Given the description of an element on the screen output the (x, y) to click on. 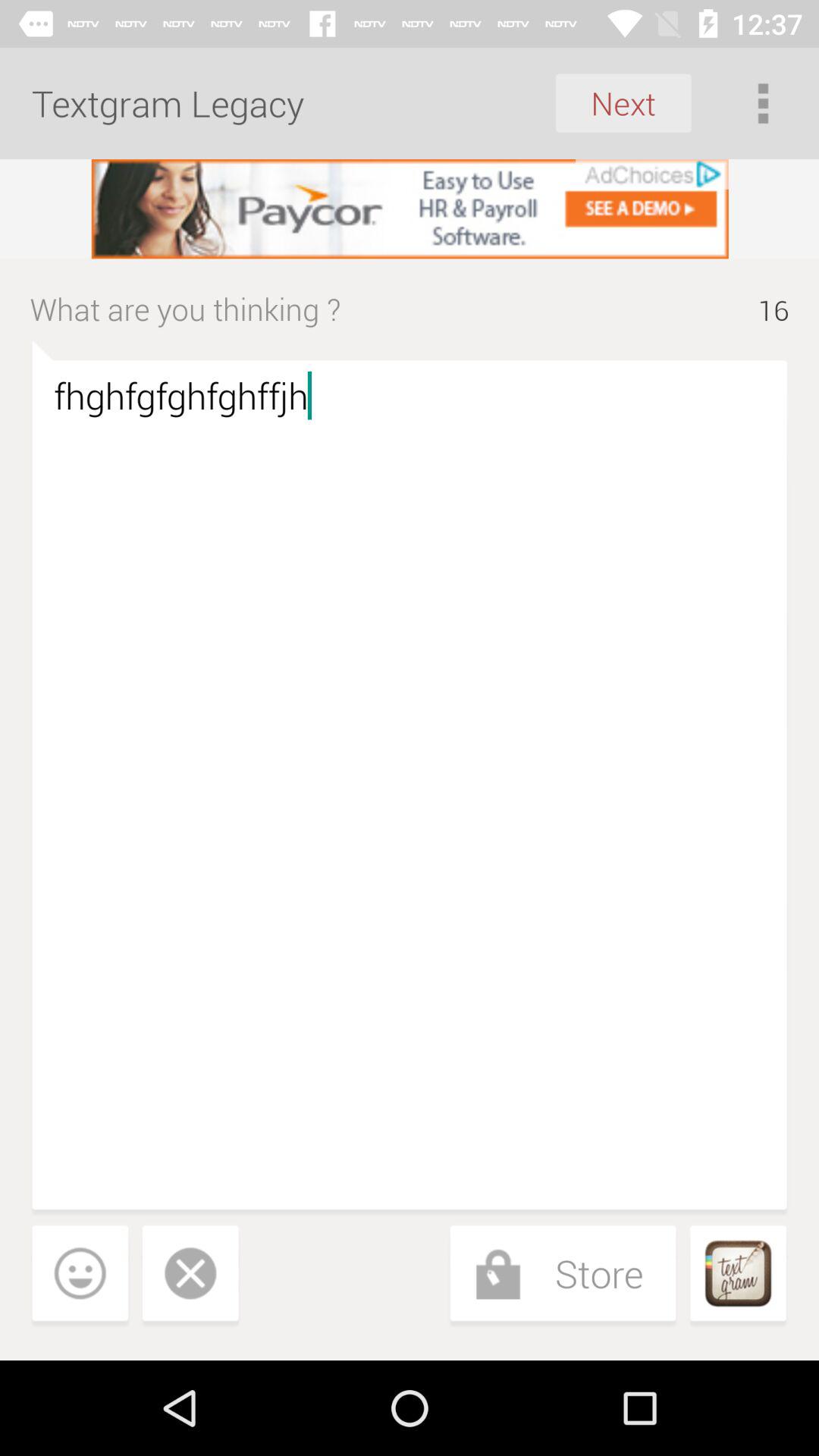
visit the advertisement 's website (409, 208)
